Given the description of an element on the screen output the (x, y) to click on. 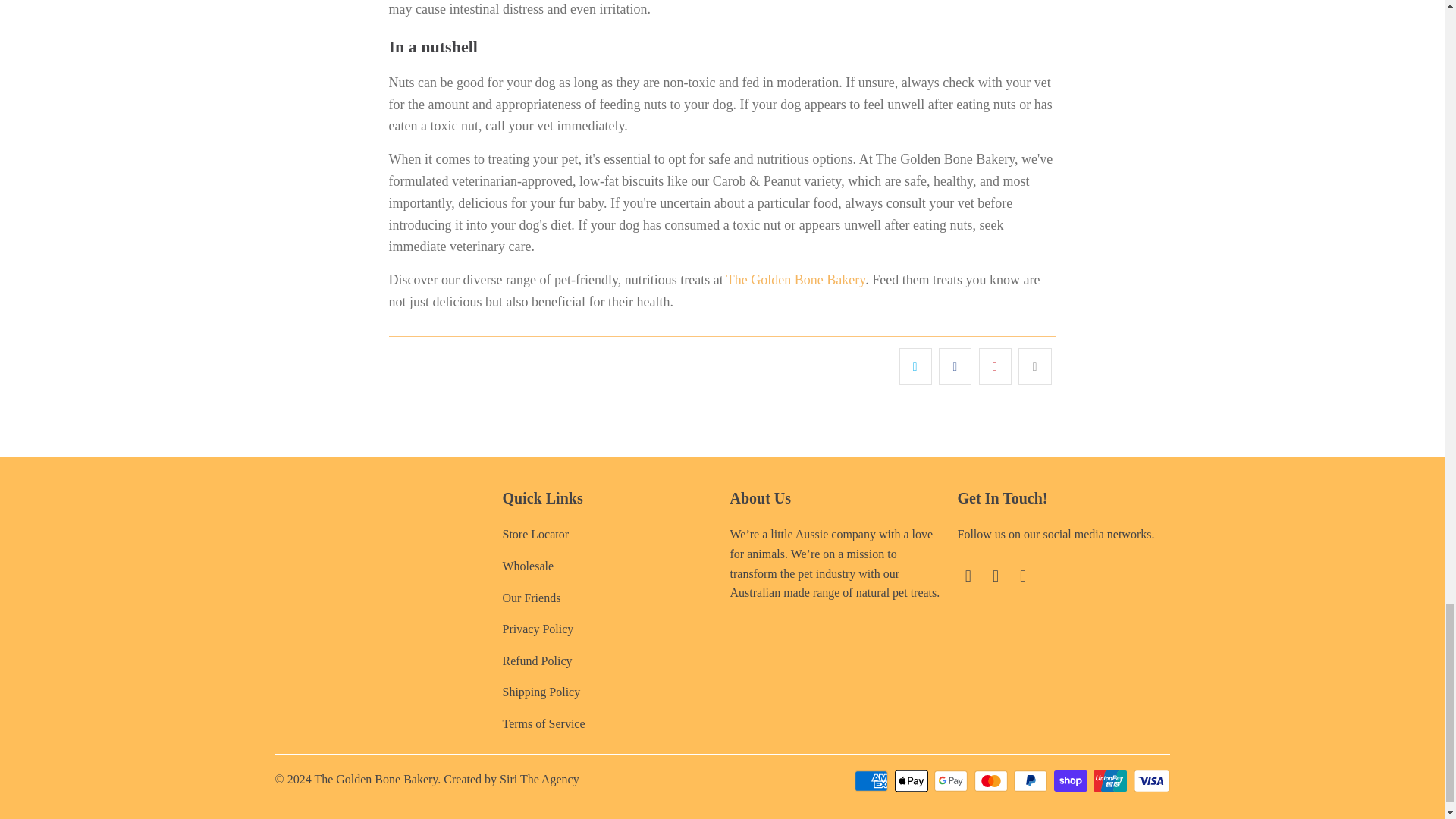
Google Pay (952, 780)
Visa (1150, 780)
Shop Pay (1072, 780)
American Express (872, 780)
Union Pay (1111, 780)
Mastercard (992, 780)
PayPal (1031, 780)
Apple Pay (913, 780)
